Given the description of an element on the screen output the (x, y) to click on. 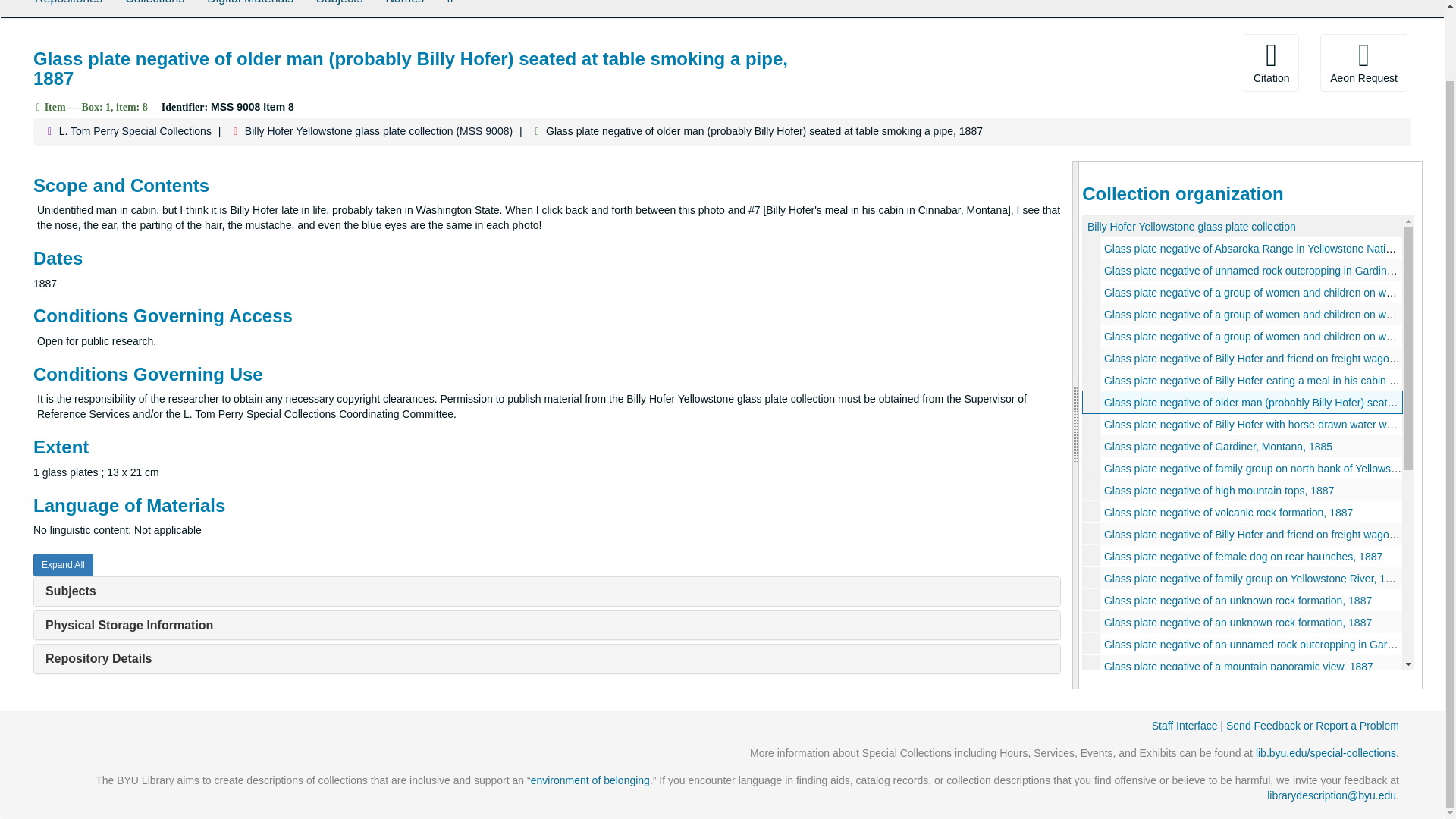
Physical Storage Information (128, 625)
Aeon Request (1363, 62)
Glass plate negative of female dog on rear haunches (1242, 556)
Billy Hofer Yellowstone glass plate collection (1191, 226)
Names (404, 8)
Glass plate negative of high mountain tops (1242, 490)
Search The Archives (449, 8)
